Given the description of an element on the screen output the (x, y) to click on. 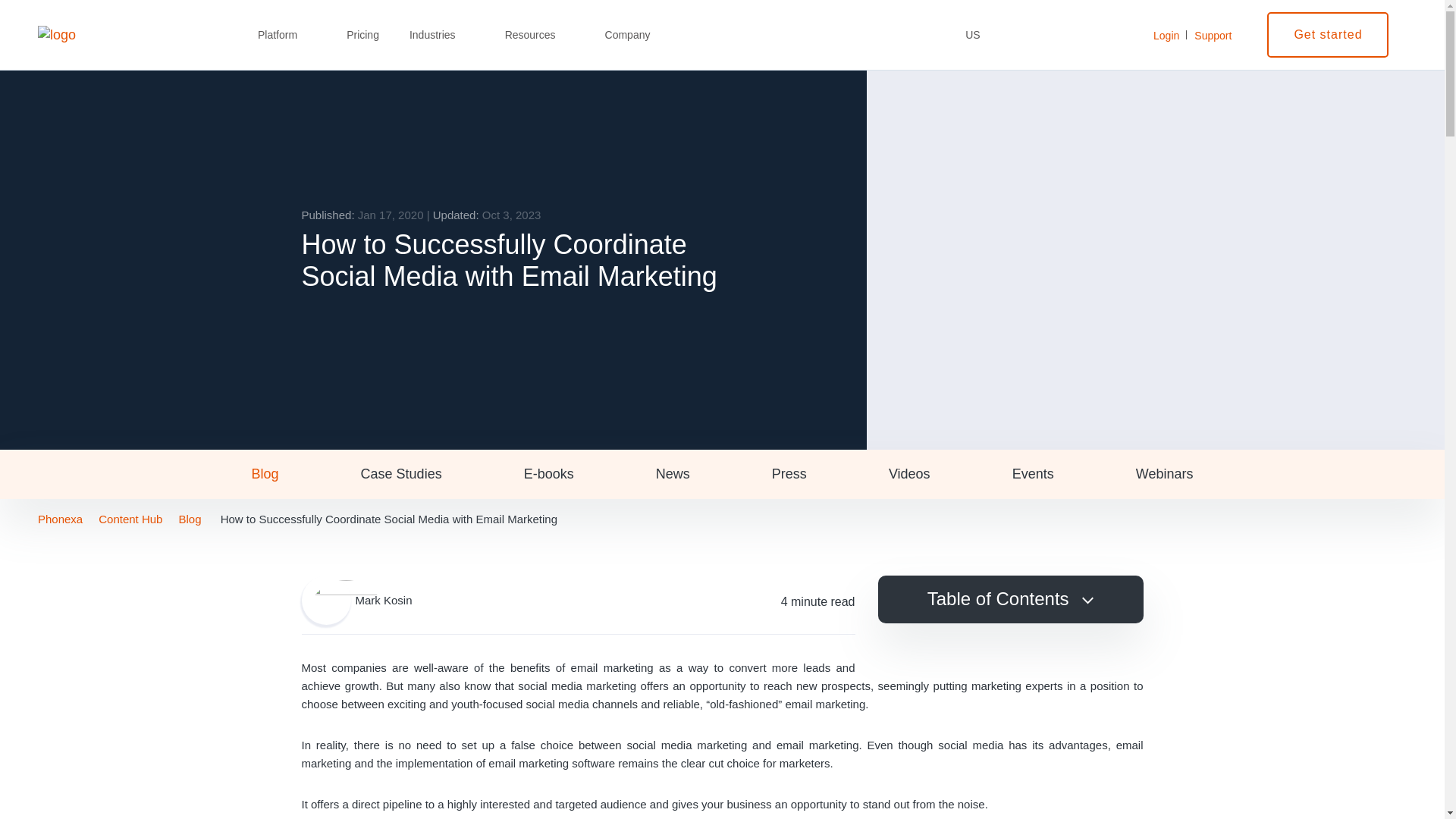
Company (637, 34)
Resources (540, 34)
Support (1212, 34)
Login (1166, 34)
Industries (441, 34)
